Given the description of an element on the screen output the (x, y) to click on. 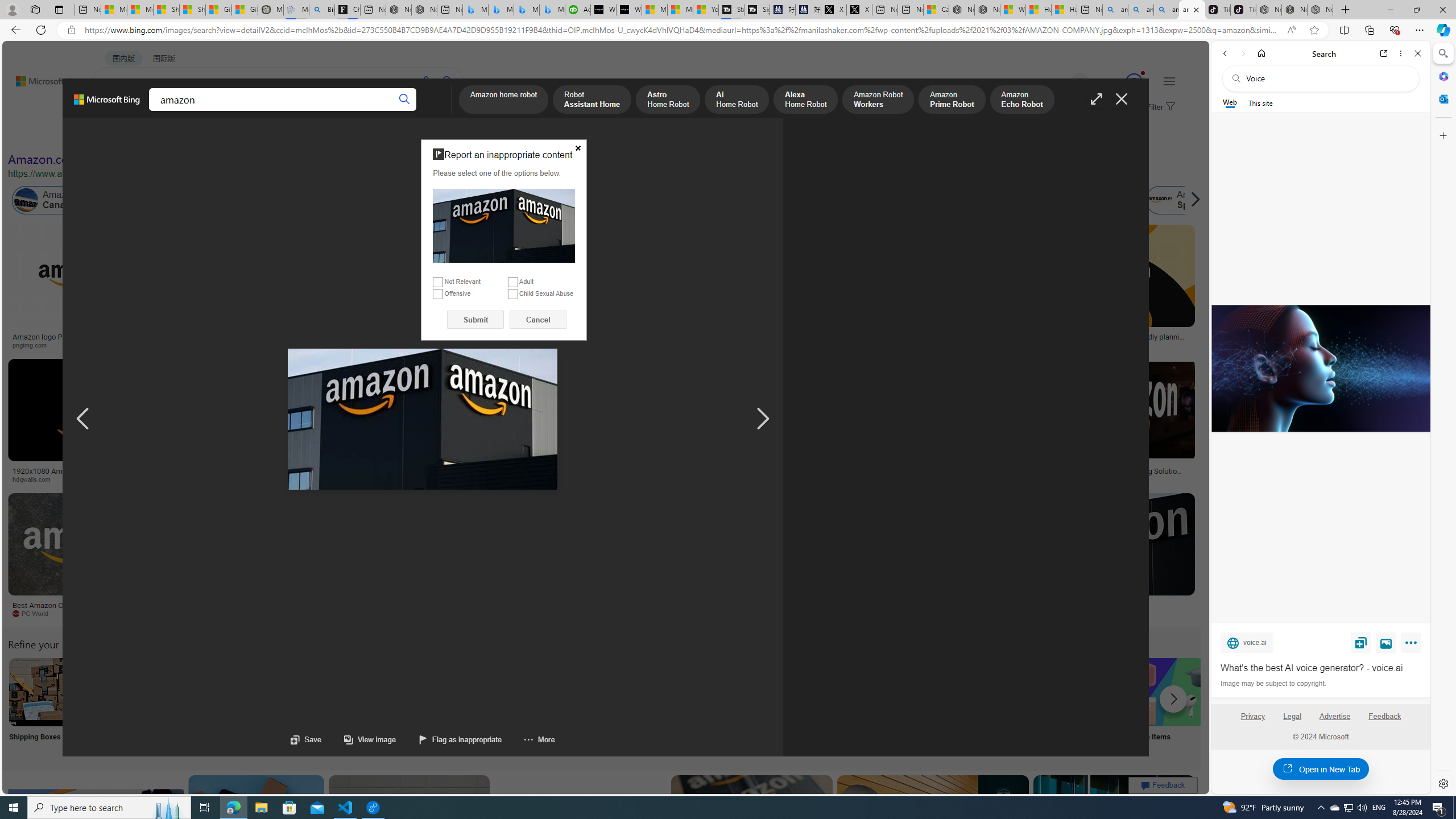
Amazon Online Shopping Search (118, 691)
Visa Card Login (1093, 706)
GOBankingRates (225, 479)
Amazon Sign in My Account Sign My Account (718, 706)
Amazon Visa Card Login Visa Card Login (1093, 706)
Amazon Shipping Boxes Shipping Boxes (42, 706)
Date (336, 135)
